Given the description of an element on the screen output the (x, y) to click on. 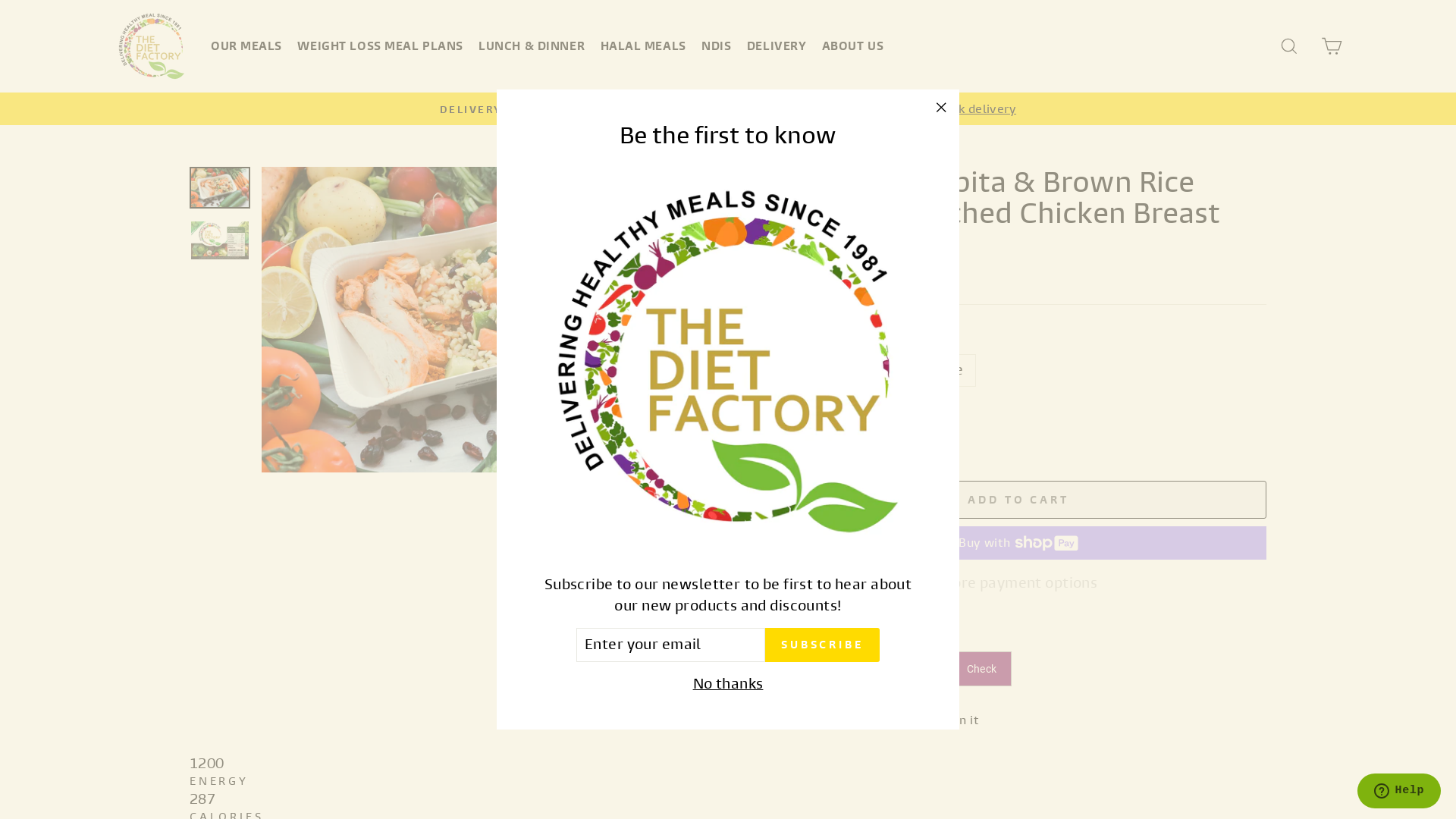
SUBSCRIBE Element type: text (822, 644)
DELIVERY Element type: text (776, 45)
NDIS Element type: text (716, 45)
Share
Share on Facebook Element type: text (802, 719)
Tweet
Tweet on Twitter Element type: text (882, 719)
ADD TO CART Element type: text (1018, 499)
+ Element type: text (838, 440)
CART Element type: text (1331, 46)
SEARCH Element type: text (1288, 46)
HALAL MEALS Element type: text (643, 45)
LUNCH & DINNER Element type: text (531, 45)
OUR MEALS Element type: text (246, 45)
WEIGHT LOSS MEAL PLANS Element type: text (379, 45)
Skip to content Element type: text (0, 0)
No thanks Element type: text (728, 684)
Pin it
Pin on Pinterest Element type: text (959, 719)
Opens a widget where you can chat to one of our agents Element type: hover (1398, 792)
Check Element type: text (980, 668)
More payment options Element type: text (1018, 583)
"Close (esc)" Element type: text (940, 107)
ABOUT US Element type: text (852, 45)
